Given the description of an element on the screen output the (x, y) to click on. 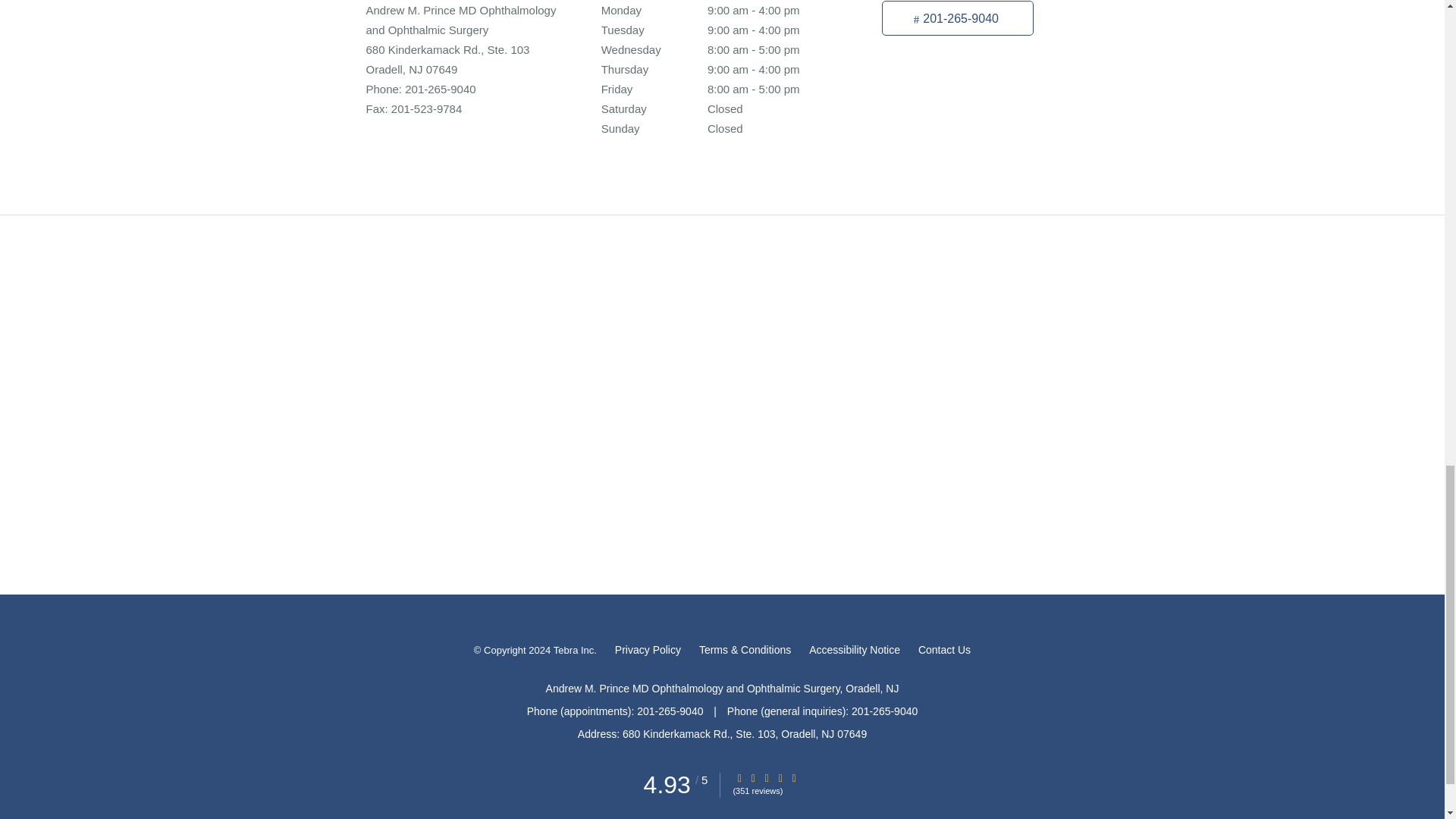
Star Rating (794, 778)
Star Rating (753, 778)
Star Rating (780, 778)
Star Rating (738, 778)
Star Rating (766, 778)
